Given the description of an element on the screen output the (x, y) to click on. 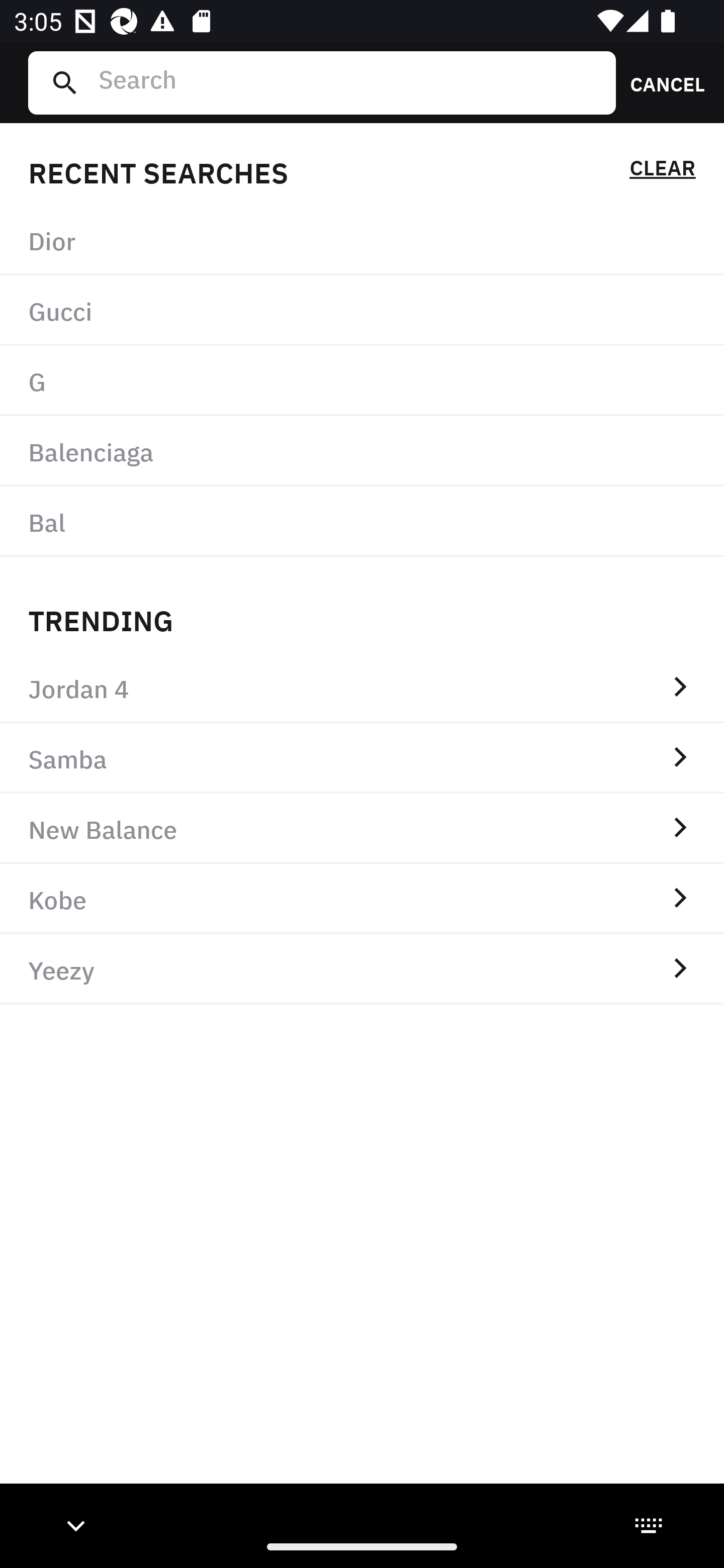
CANCEL (660, 82)
Search (349, 82)
CLEAR (662, 170)
Dior (362, 240)
Gucci (362, 310)
G (362, 380)
Balenciaga (362, 450)
Bal (362, 521)
Jordan 4  (362, 687)
Samba  (362, 757)
New Balance  (362, 828)
Kobe  (362, 898)
Yeezy  (362, 969)
